Given the description of an element on the screen output the (x, y) to click on. 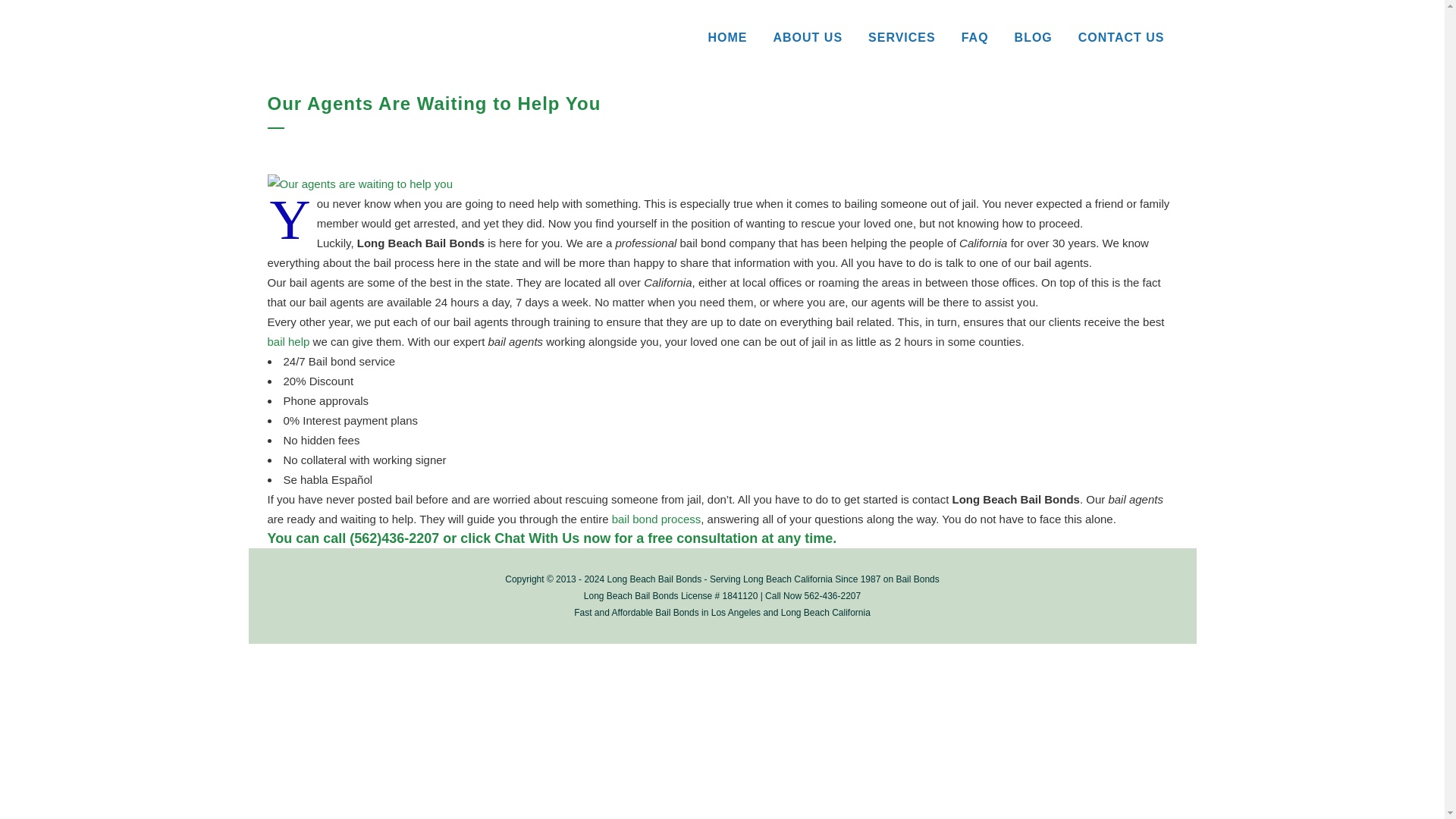
ABOUT US (808, 38)
CONTACT US (1121, 38)
bail bond process (656, 518)
Our Agents Are Waiting to Help You (358, 184)
SERVICES (902, 38)
bail help (287, 341)
